Given the description of an element on the screen output the (x, y) to click on. 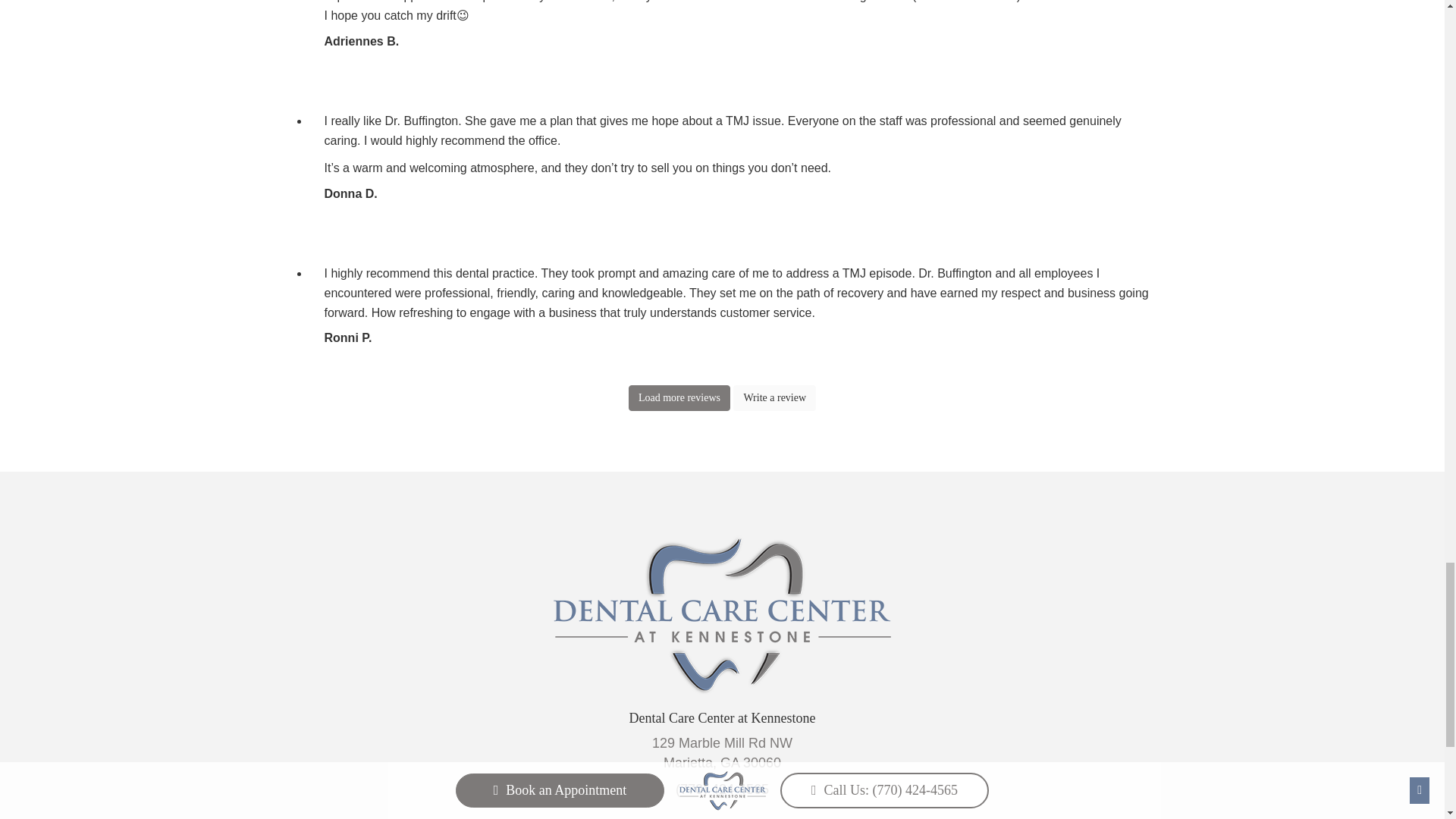
Get directions (722, 752)
